Given the description of an element on the screen output the (x, y) to click on. 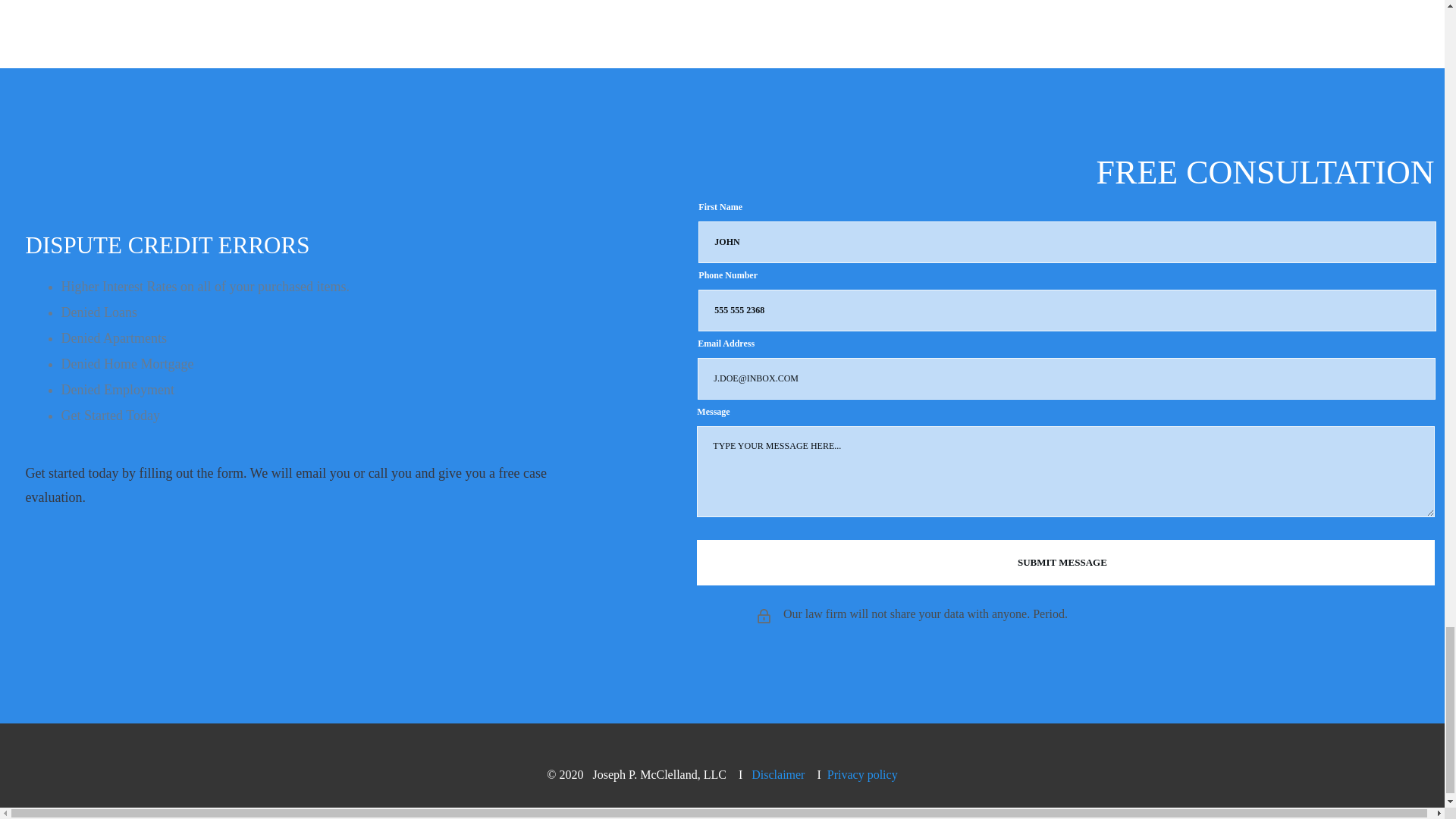
SUBMIT MESSAGE (1065, 562)
Disclaimer (778, 774)
Privacy policy (862, 774)
